Given the description of an element on the screen output the (x, y) to click on. 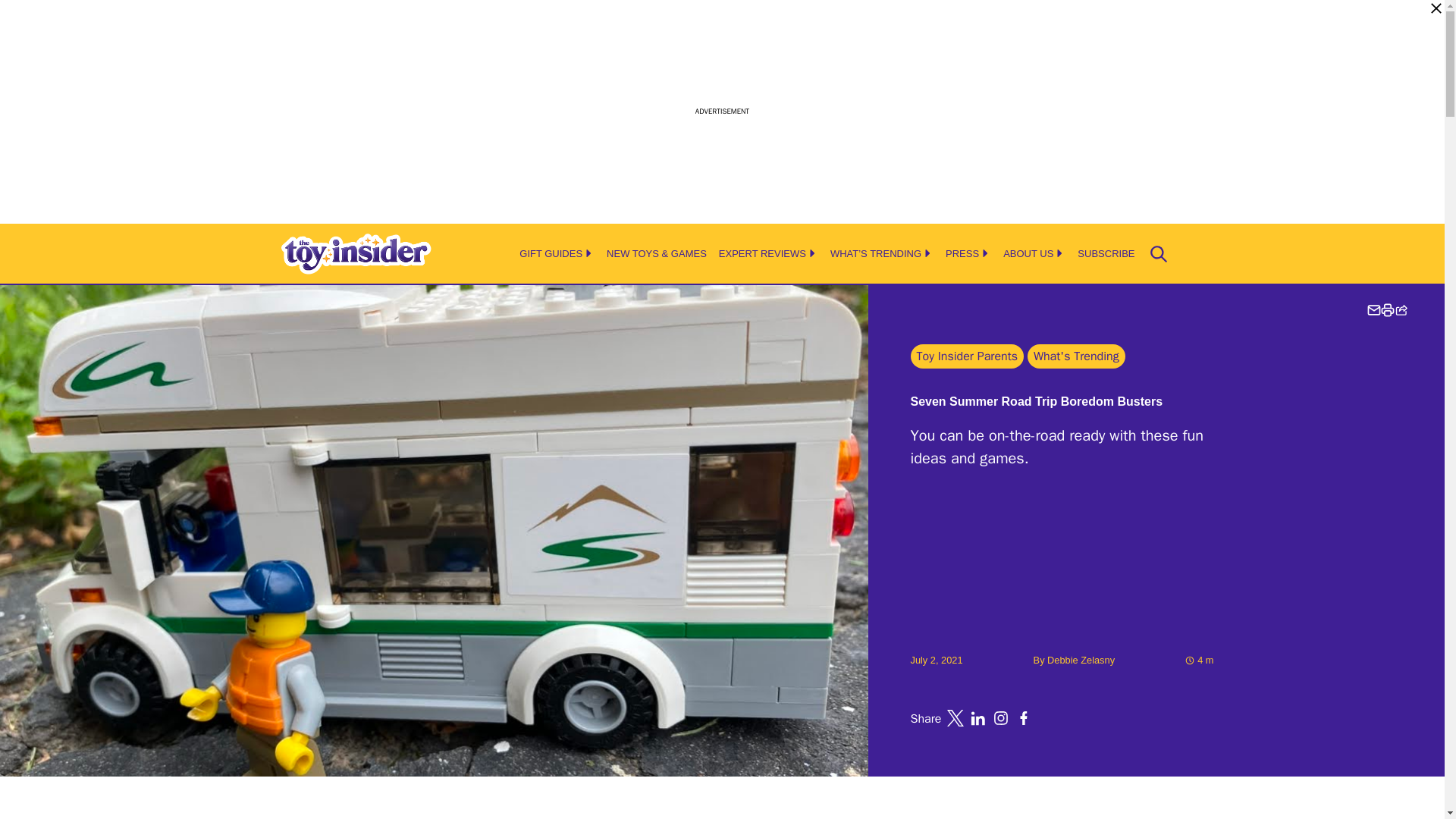
Go to What's Trending (1076, 355)
Go to Toy Insider Parents (966, 355)
Open facebook in a new window (1023, 718)
EXPERT REVIEWS (762, 253)
GIFT GUIDES (550, 253)
Go to:  (1080, 659)
Open linkedin in a new window (978, 718)
Open instagram in a new window (1000, 718)
Open x in a new window (955, 718)
